Given the description of an element on the screen output the (x, y) to click on. 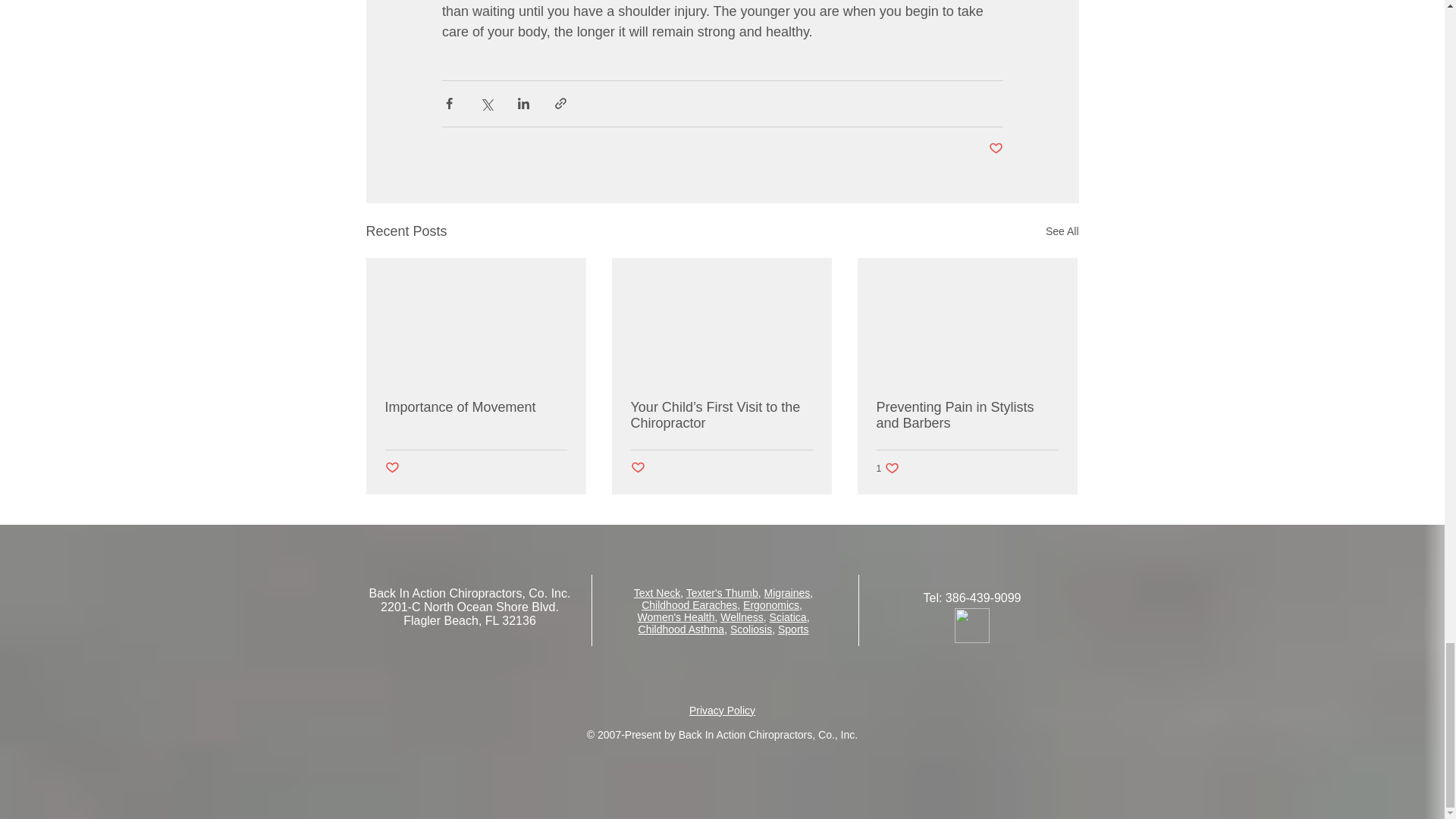
Wellness (741, 616)
Importance of Movement (476, 407)
Preventing Pain in Stylists and Barbers (967, 415)
Childhood Earaches (689, 604)
Sciatica (788, 616)
Post not marked as liked (637, 467)
Scoliosis (750, 629)
Texter's Thumb (721, 592)
Women's Health (675, 616)
Post not marked as liked (391, 467)
